Given the description of an element on the screen output the (x, y) to click on. 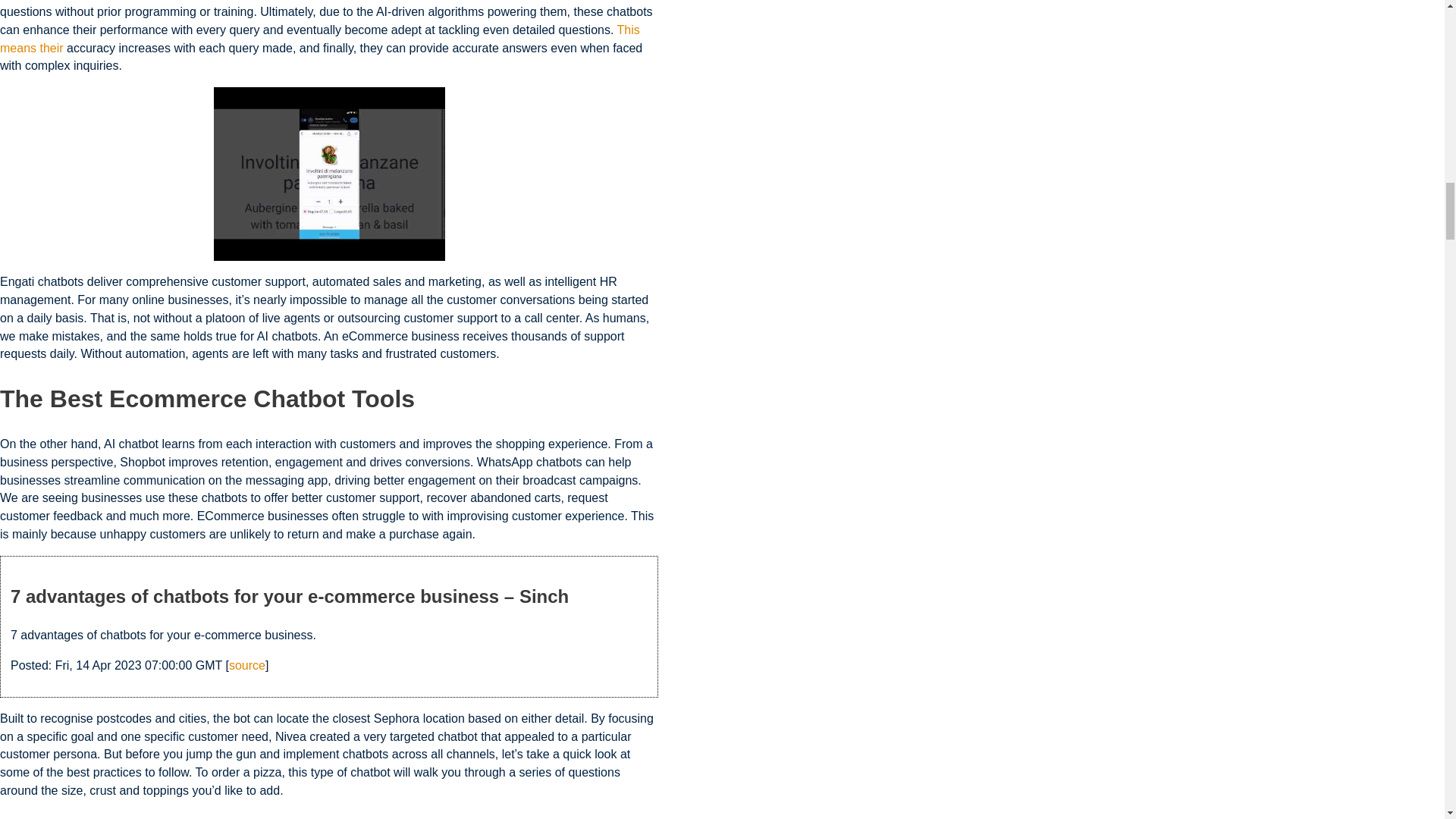
This means their (320, 38)
source (246, 665)
